Given the description of an element on the screen output the (x, y) to click on. 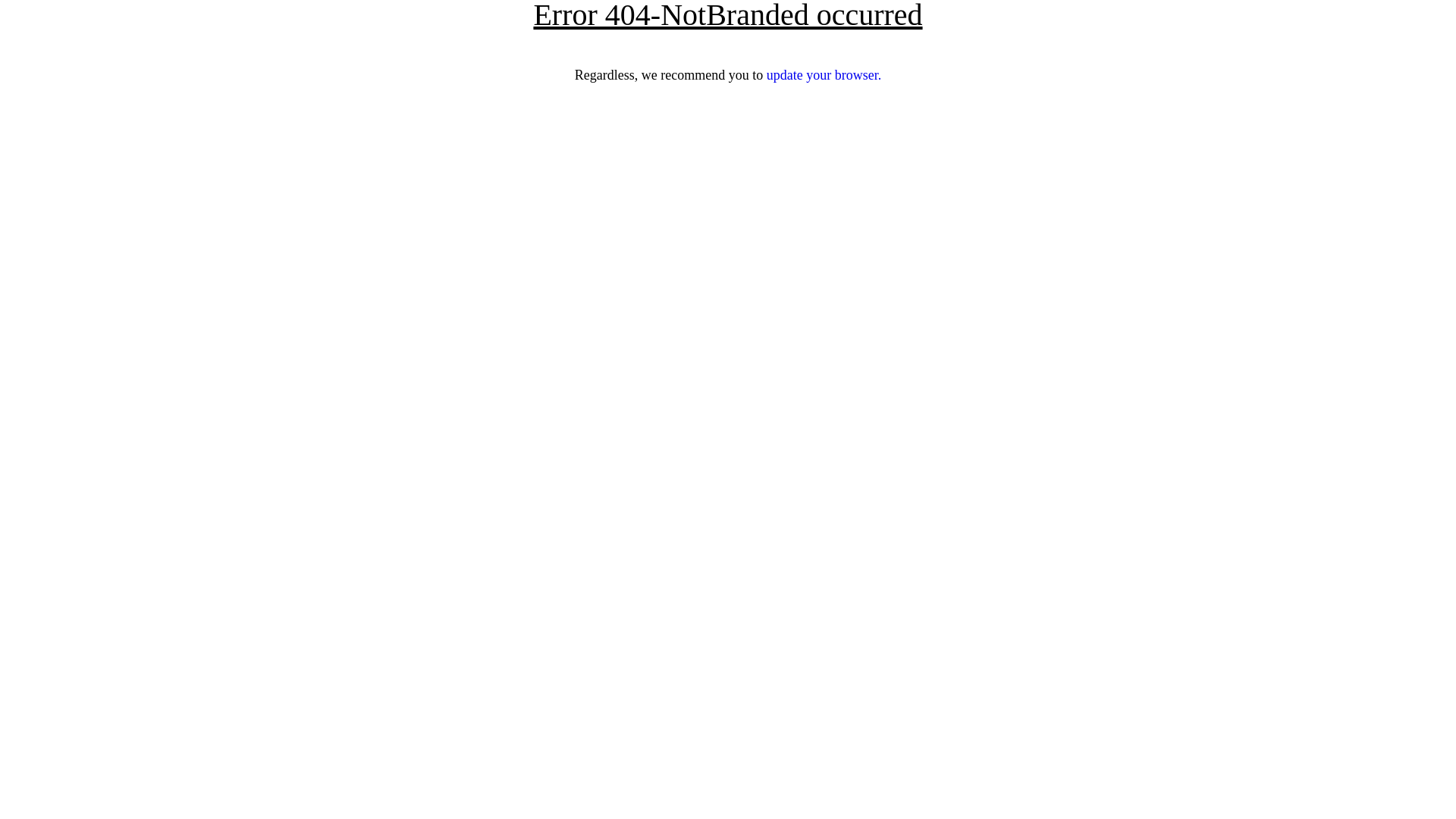
update your browser. Element type: text (823, 74)
